Given the description of an element on the screen output the (x, y) to click on. 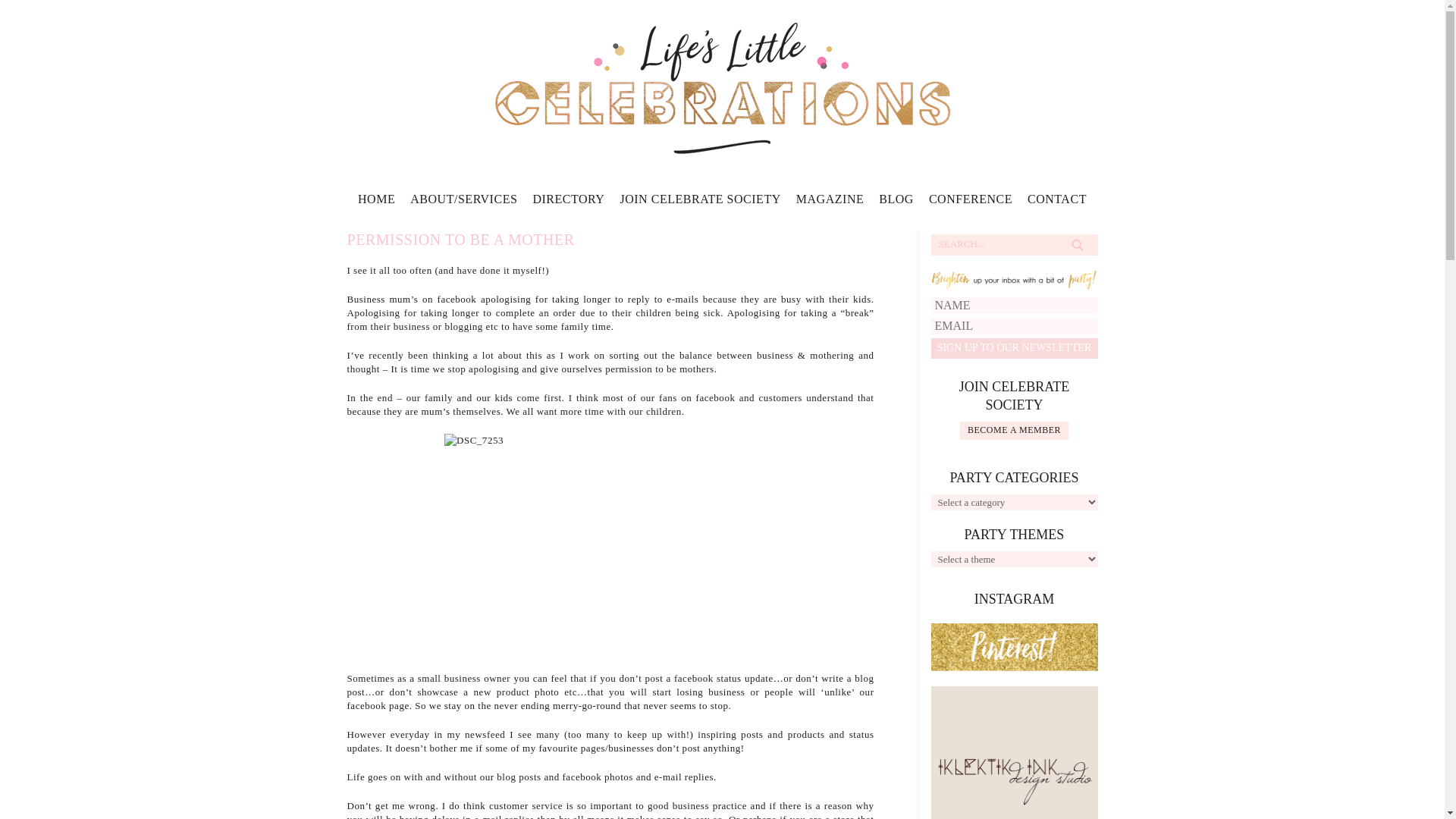
HOME (376, 203)
Sign up to our newsletter (1014, 348)
PERMISSION TO BE A MOTHER (461, 239)
DIRECTORY (568, 203)
Iklektik Ink (1014, 767)
JOIN CELEBRATE SOCIETY (700, 203)
Lifes Little Celebration (722, 86)
MAGAZINE (829, 203)
CONTACT (1056, 203)
BECOME A MEMBER (1013, 430)
